Given the description of an element on the screen output the (x, y) to click on. 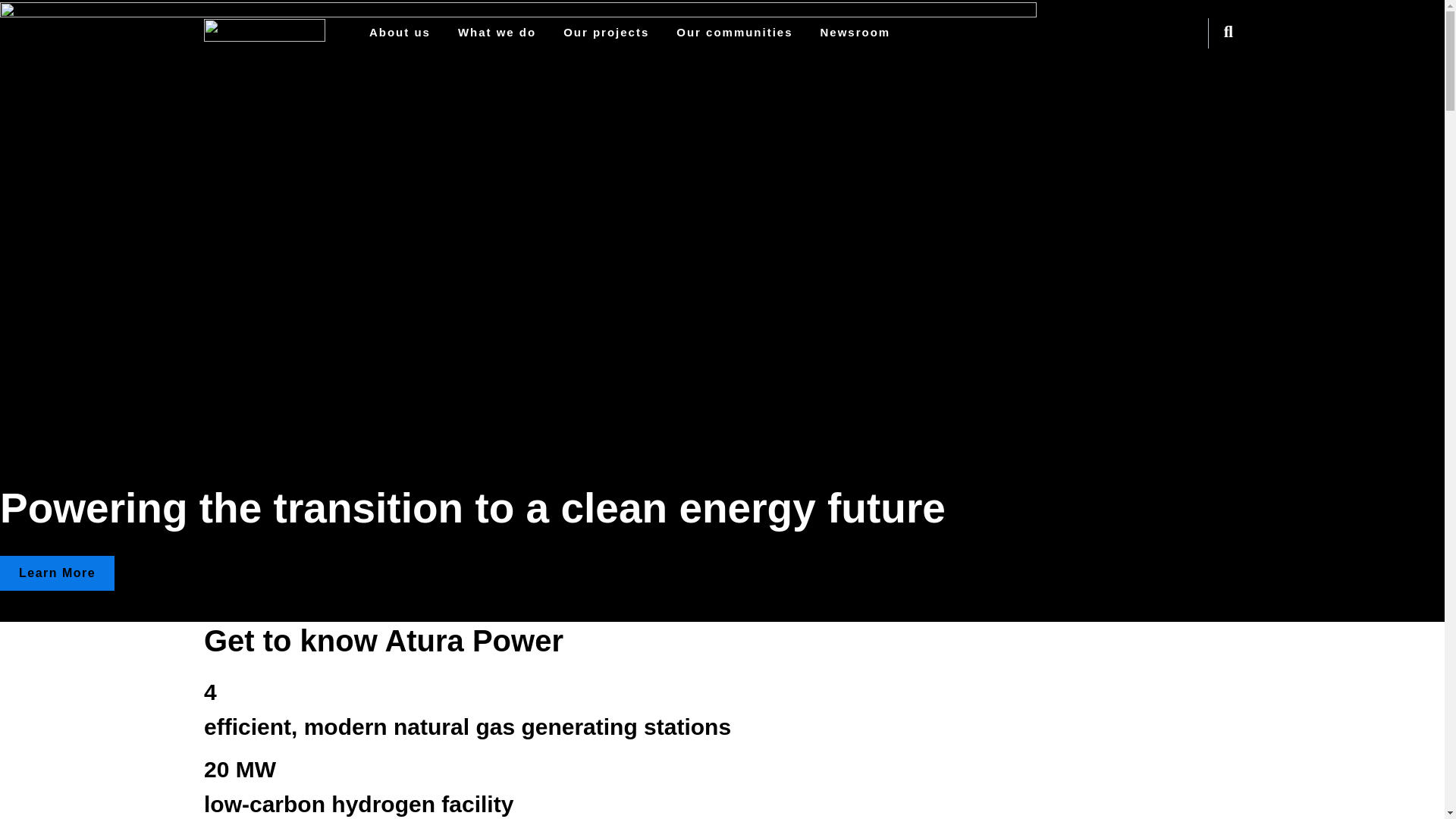
Home (263, 30)
About us (399, 33)
Our projects (606, 33)
What we do (496, 33)
